Given the description of an element on the screen output the (x, y) to click on. 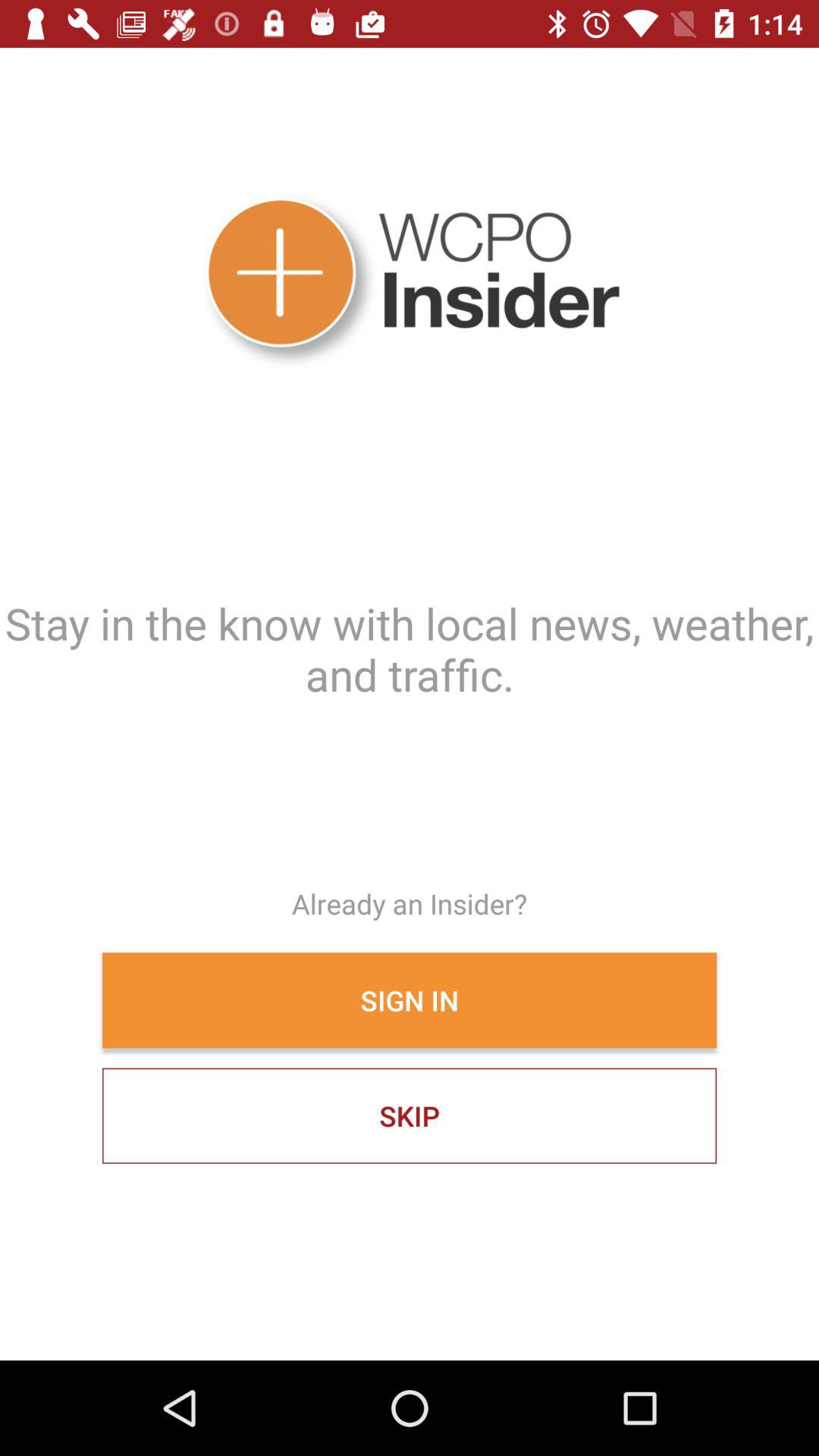
launch icon below the sign in (409, 1115)
